Given the description of an element on the screen output the (x, y) to click on. 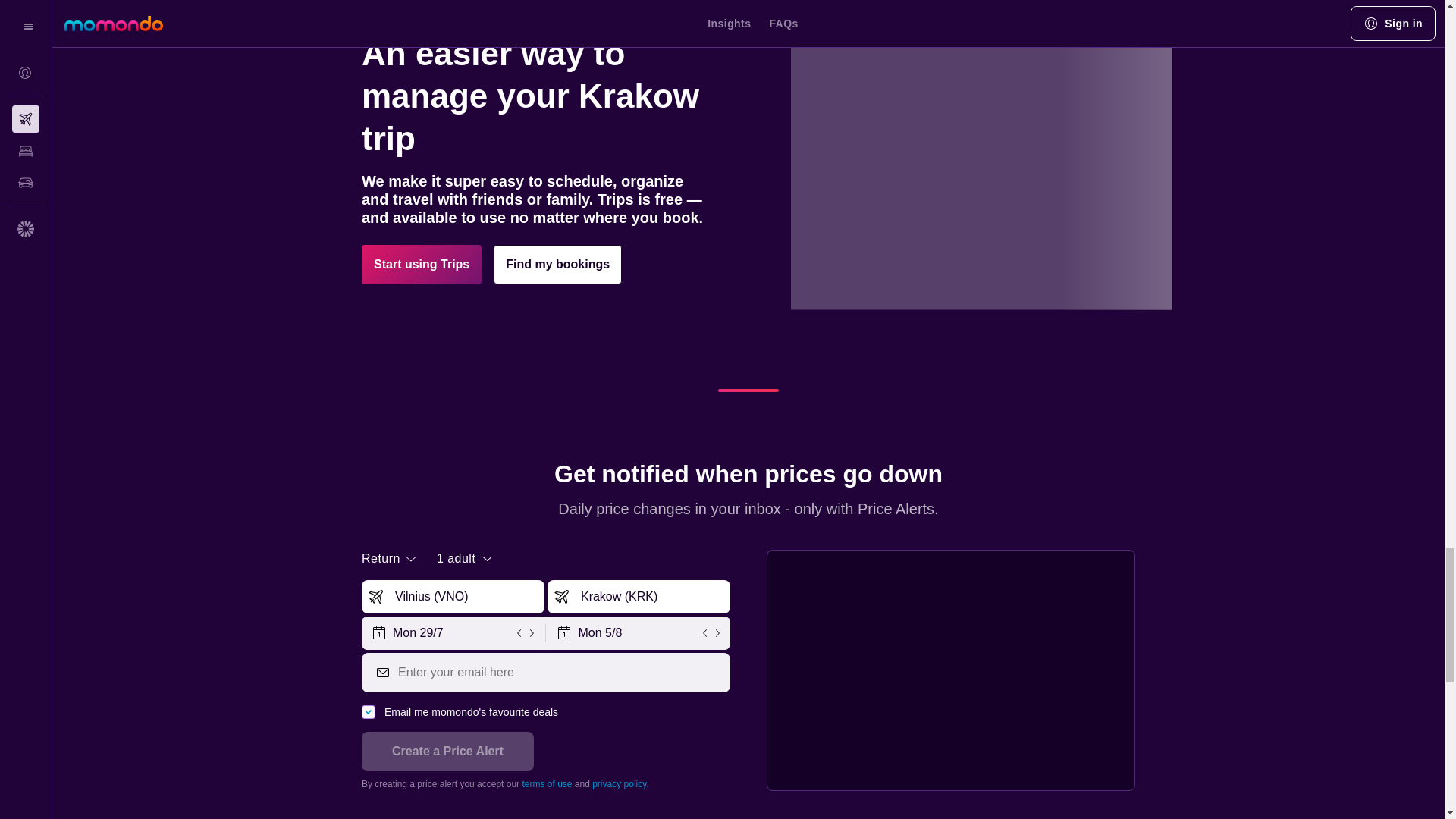
Find my bookings (557, 264)
Create a Price Alert (447, 751)
privacy policy. (619, 783)
terms of use (546, 783)
Start using Trips (421, 264)
